Given the description of an element on the screen output the (x, y) to click on. 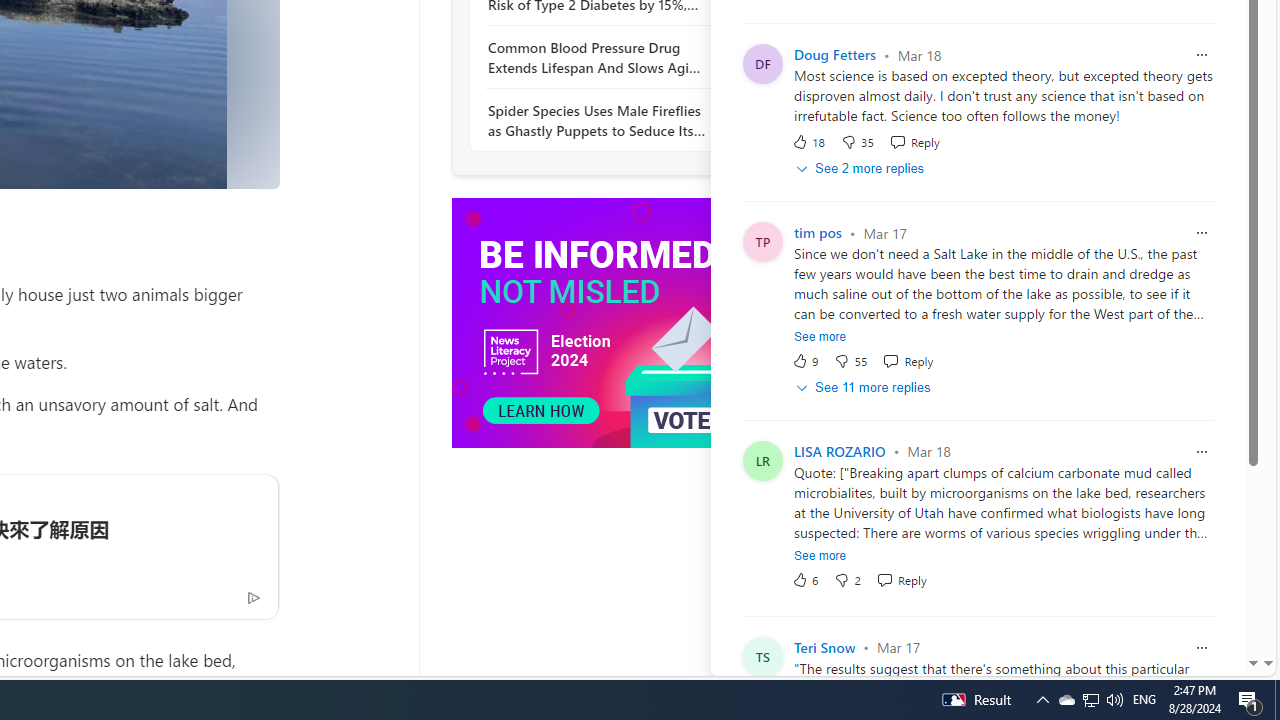
Ad Choice (253, 596)
Ad (745, 453)
Doug Fetters (834, 55)
6 Like (804, 579)
9 Like (804, 361)
Teri Snow (824, 647)
Report comment (1201, 646)
Dislike (847, 579)
See 2 more replies (861, 169)
